Given the description of an element on the screen output the (x, y) to click on. 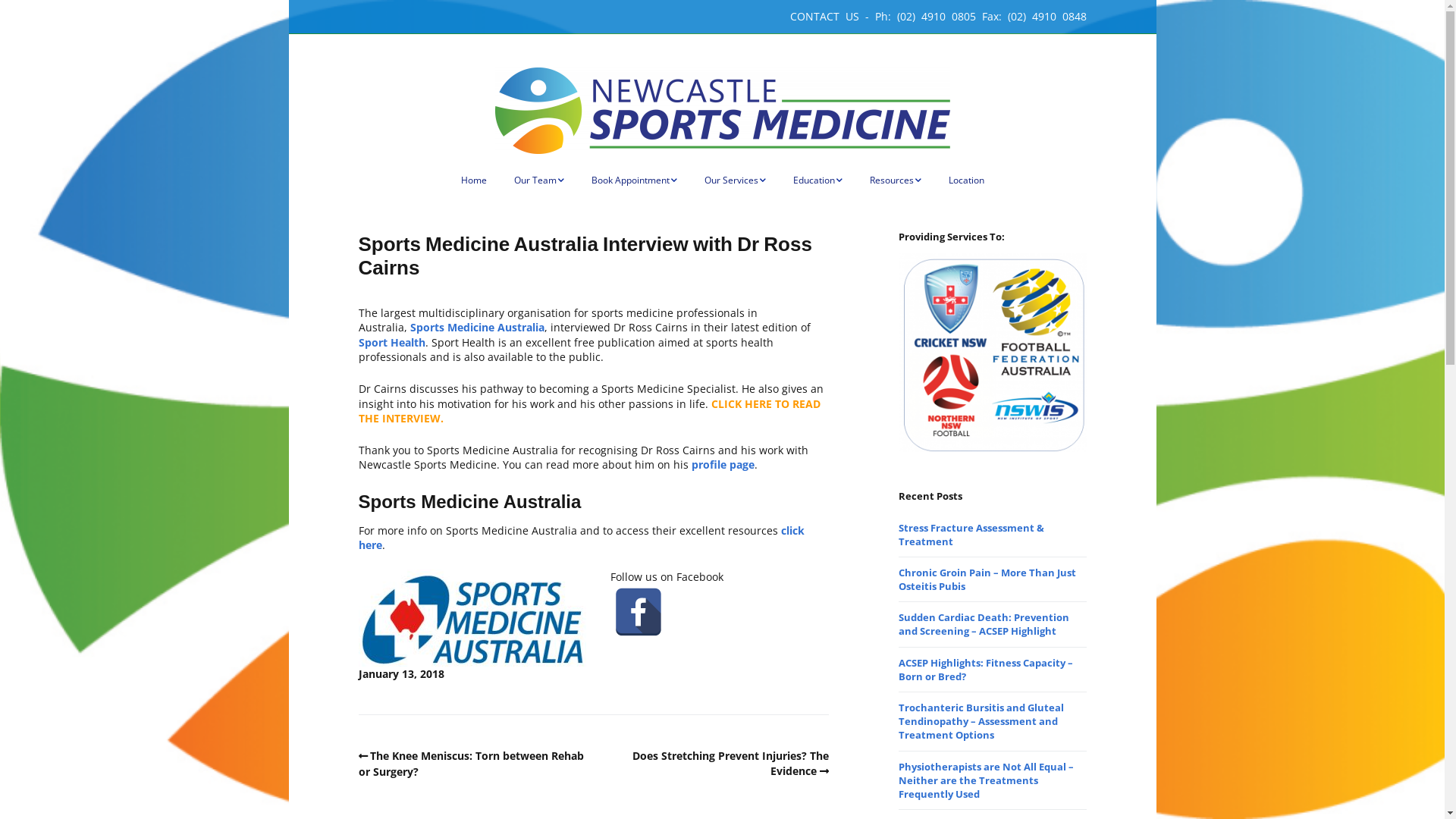
The Knee Meniscus: Torn between Rehab or Surgery? Element type: text (470, 763)
Our Team Element type: text (539, 180)
Sport Health Element type: text (390, 342)
Does Stretching Prevent Injuries? The Evidence Element type: text (730, 763)
Location Element type: text (965, 180)
Home Element type: text (473, 180)
Resources Element type: text (894, 180)
profile page Element type: text (721, 464)
Stress Fracture Assessment & Treatment Element type: text (970, 534)
Sports Medicine Australia Element type: text (476, 327)
Book Appointment Element type: text (634, 180)
click here Element type: text (580, 537)
Our Services Element type: text (734, 180)
CLICK HERE TO READ THE INTERVIEW. Element type: text (588, 411)
Facebook Element type: hover (638, 611)
Education Element type: text (817, 180)
